Given the description of an element on the screen output the (x, y) to click on. 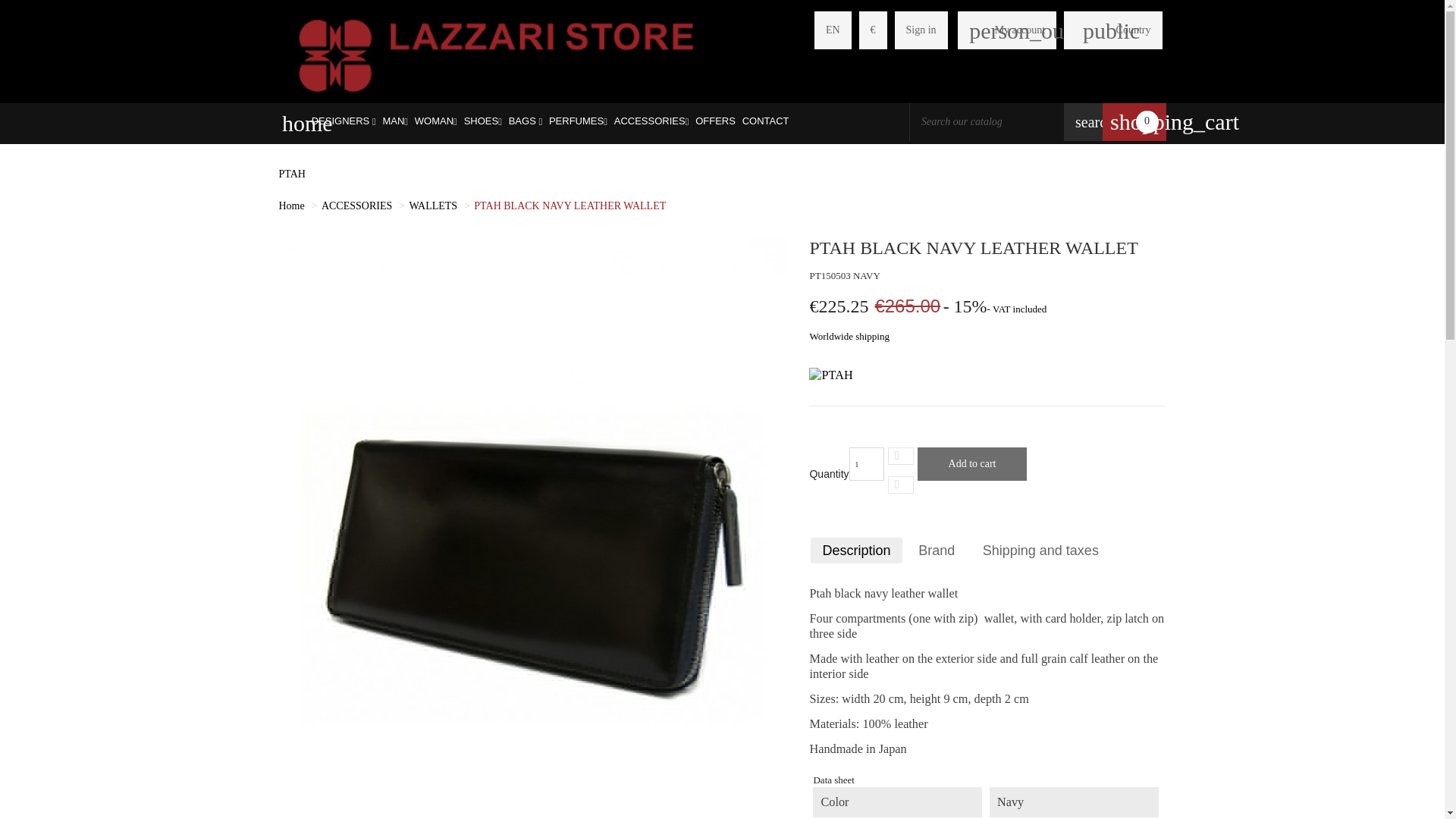
Lazzari Store (496, 53)
Log in to your customer account (921, 30)
Sign in (921, 30)
Log in to your customer account (1007, 30)
public (1094, 29)
Choose here the destination country (1133, 30)
1 (865, 463)
